Given the description of an element on the screen output the (x, y) to click on. 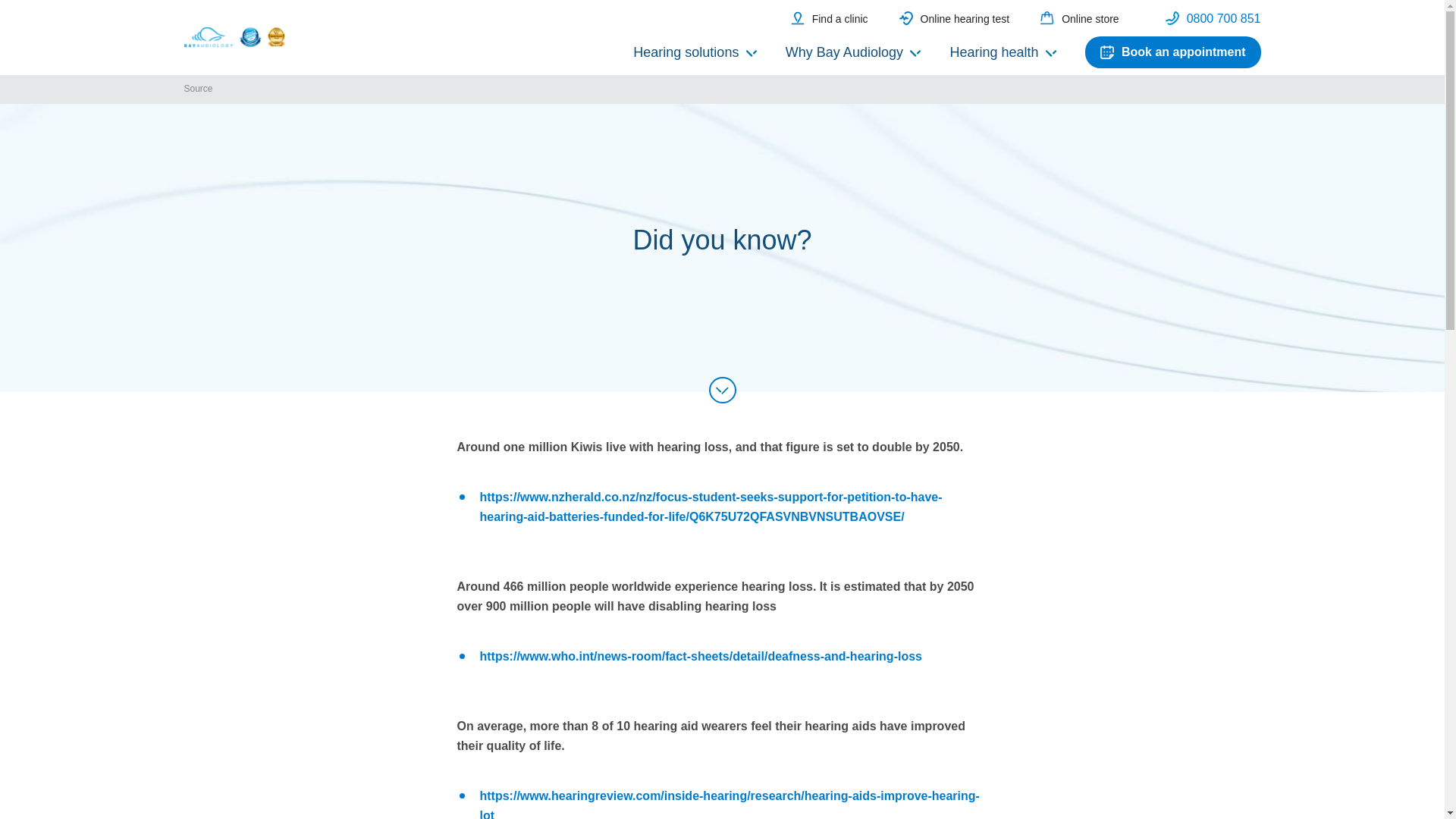
Online store (1079, 18)
Online hearing test (954, 18)
0800 700 851 (1213, 18)
Find a clinic (828, 18)
